Given the description of an element on the screen output the (x, y) to click on. 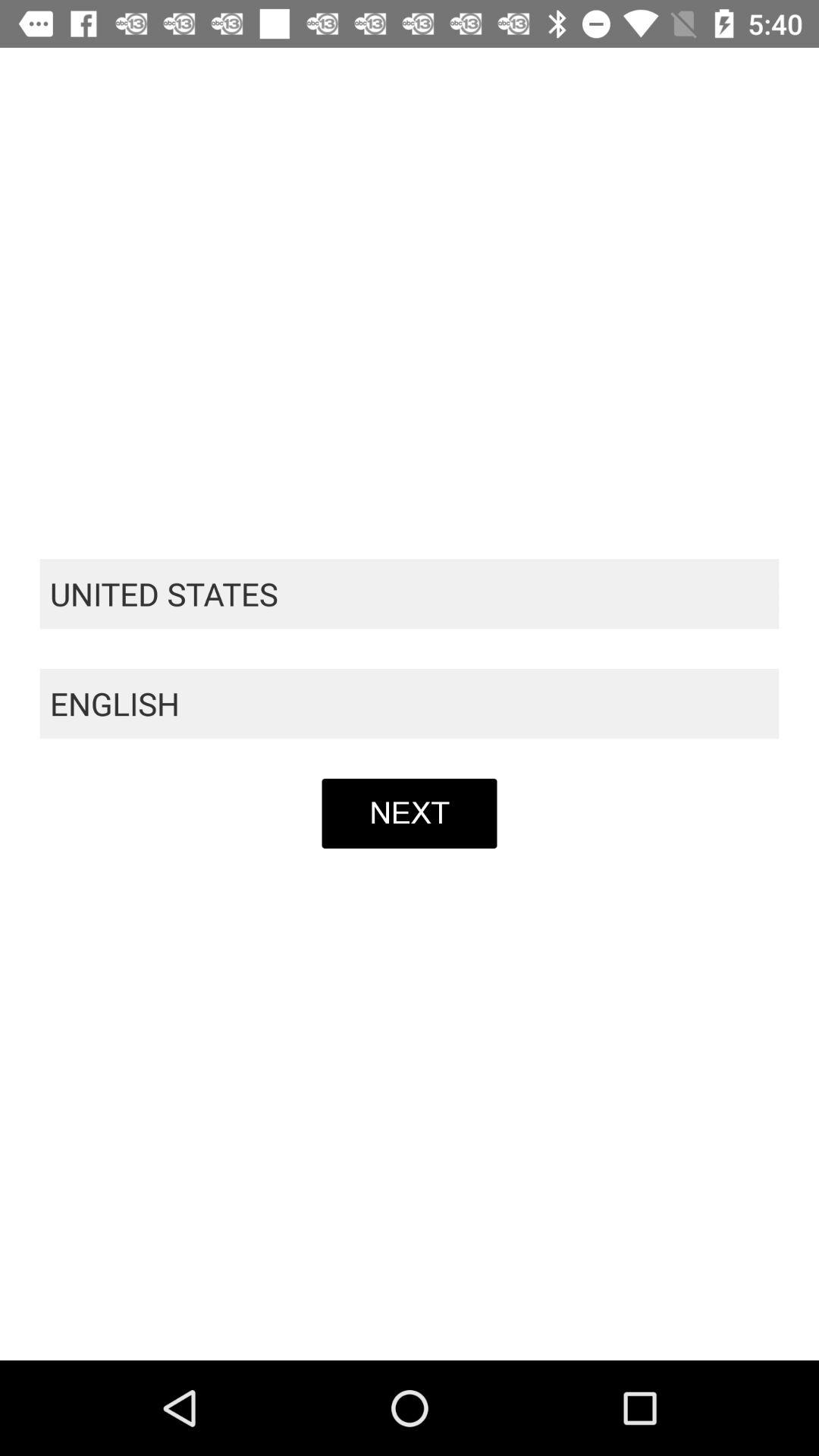
turn on item below the united states (409, 703)
